Given the description of an element on the screen output the (x, y) to click on. 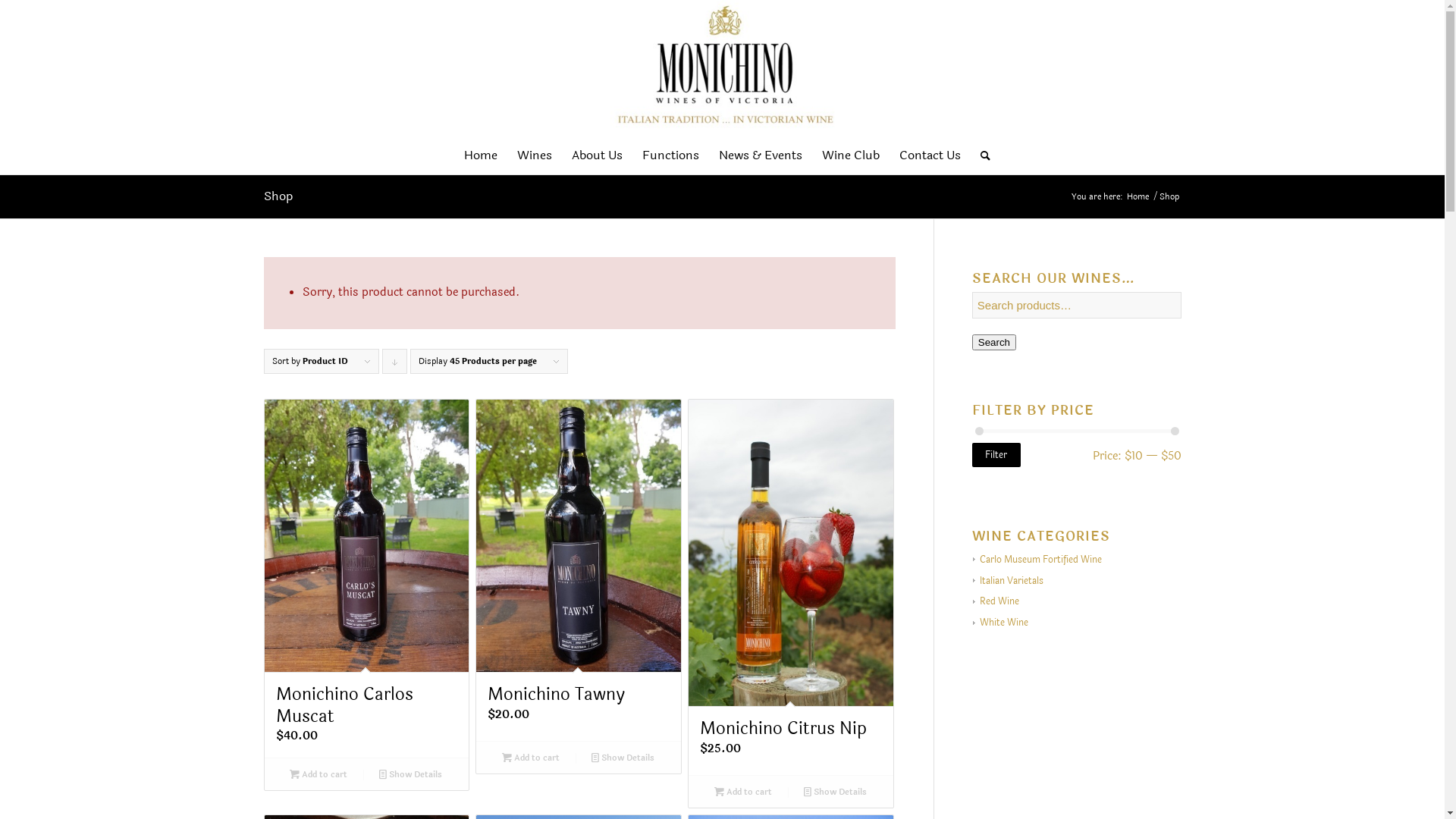
Monichino-Logo Element type: hover (721, 68)
Home Element type: text (480, 155)
Monichino Citrus Nip
$25.00 Element type: text (790, 587)
Add to cart Element type: text (529, 757)
About Us Element type: text (596, 155)
Monichino Tawny
$20.00 Element type: text (578, 570)
Wines Element type: text (534, 155)
Italian Varietals Element type: text (1007, 580)
Shop Element type: text (277, 195)
Search Element type: text (994, 342)
Red Wine Element type: text (995, 601)
Carlo Museum Fortified Wine Element type: text (1036, 559)
Show Details Element type: text (623, 757)
Add to cart Element type: text (742, 791)
News & Events Element type: text (760, 155)
White Wine Element type: text (1000, 622)
Click to order products descending Element type: text (394, 360)
Show Details Element type: text (410, 773)
Home Element type: text (1136, 196)
Wine Club Element type: text (850, 155)
Show Details Element type: text (835, 791)
Contact Us Element type: text (929, 155)
Filter Element type: text (996, 454)
Monichino Carlos Muscat
$40.00 Element type: text (365, 578)
Functions Element type: text (670, 155)
Shop Element type: text (1169, 196)
Add to cart Element type: text (317, 773)
